Given the description of an element on the screen output the (x, y) to click on. 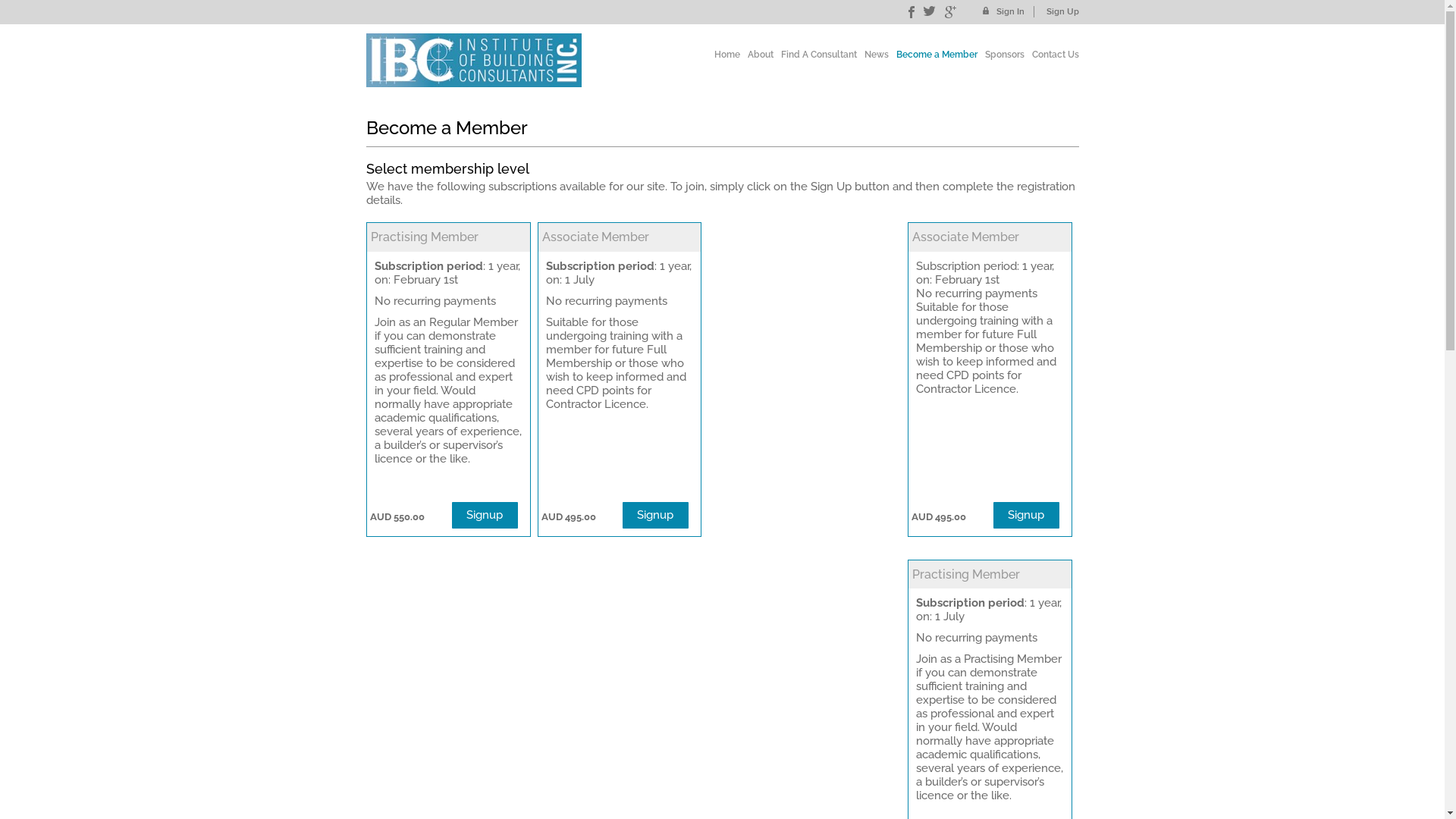
Sponsors Element type: text (999, 54)
Signup Element type: text (484, 515)
Home Element type: text (723, 54)
Signup Element type: text (1026, 515)
Contact Us Element type: text (1050, 54)
Find A Consultant Element type: text (814, 54)
About Element type: text (756, 54)
Signup Element type: text (655, 515)
News Element type: text (872, 54)
Sign In Element type: text (1008, 11)
Become a Member Element type: text (932, 54)
Sign Up Element type: text (1058, 11)
